Given the description of an element on the screen output the (x, y) to click on. 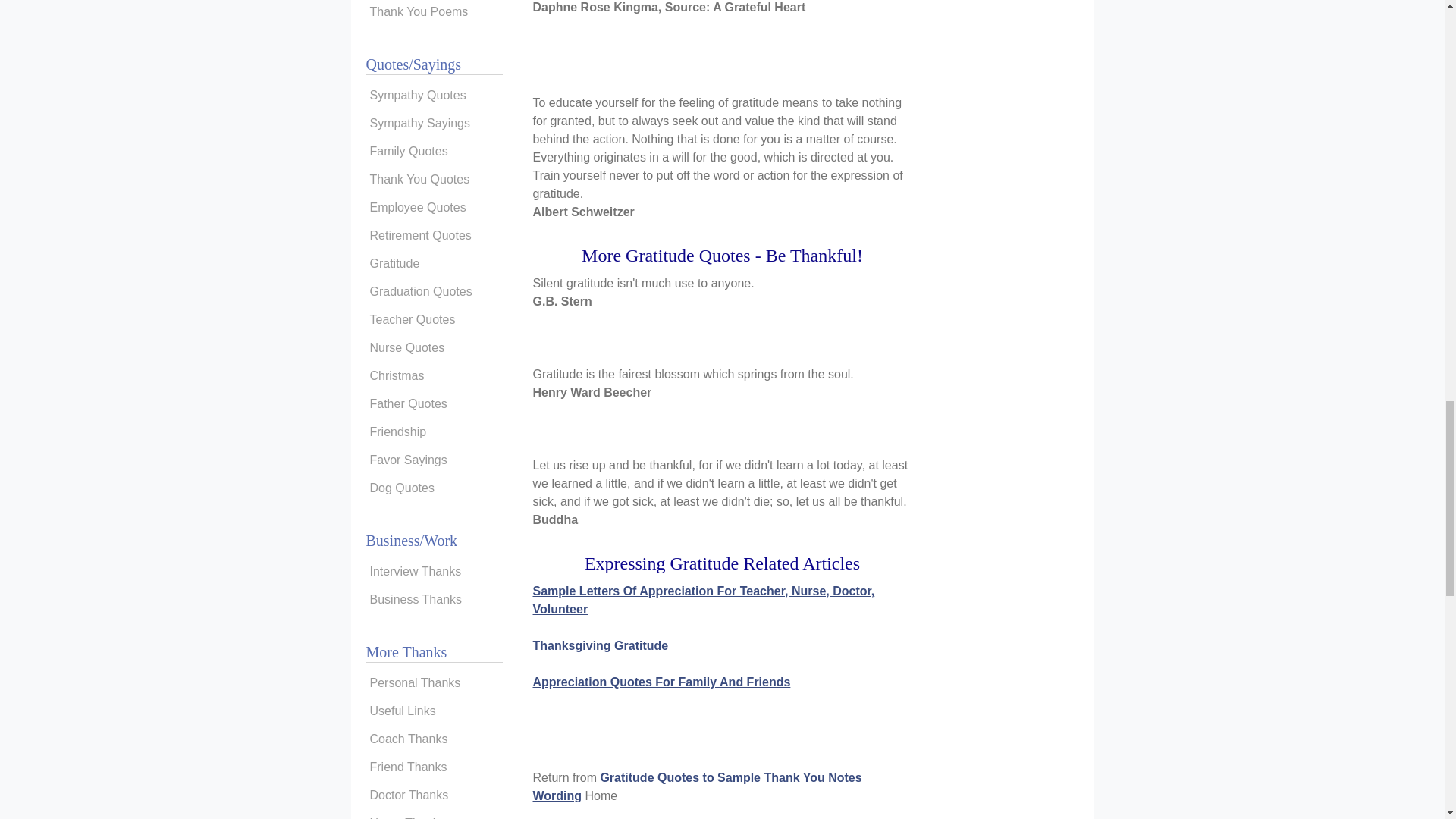
Appreciation Quotes For Family And Friends (661, 681)
Sympathy Quotes (433, 95)
Thanksgiving Gratitude (600, 645)
Sympathy Sayings (433, 123)
Thank You Poems (433, 12)
Gratitude Quotes to Sample Thank You Notes Wording (696, 786)
